Given the description of an element on the screen output the (x, y) to click on. 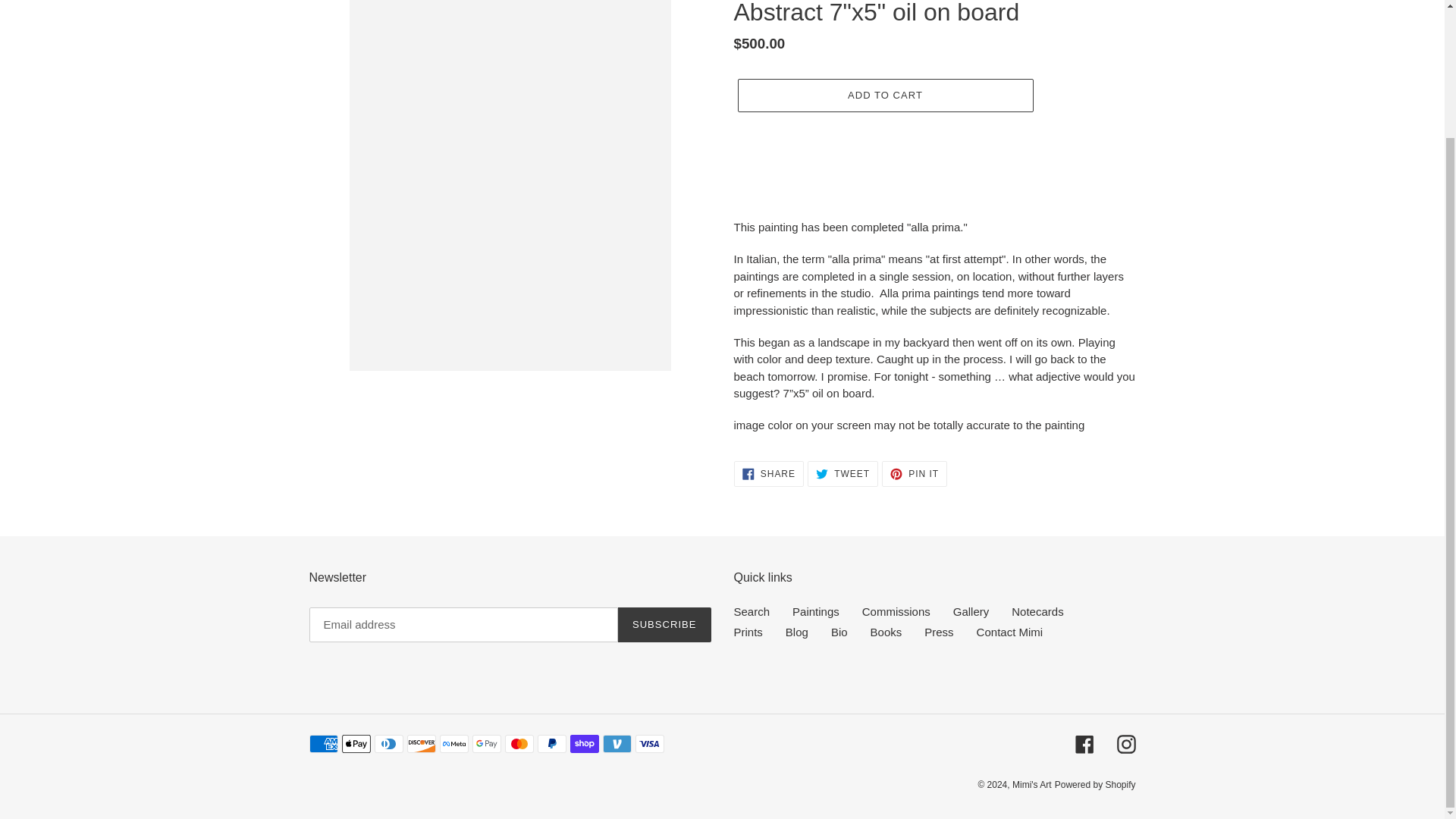
ADD TO CART (884, 95)
